Given the description of an element on the screen output the (x, y) to click on. 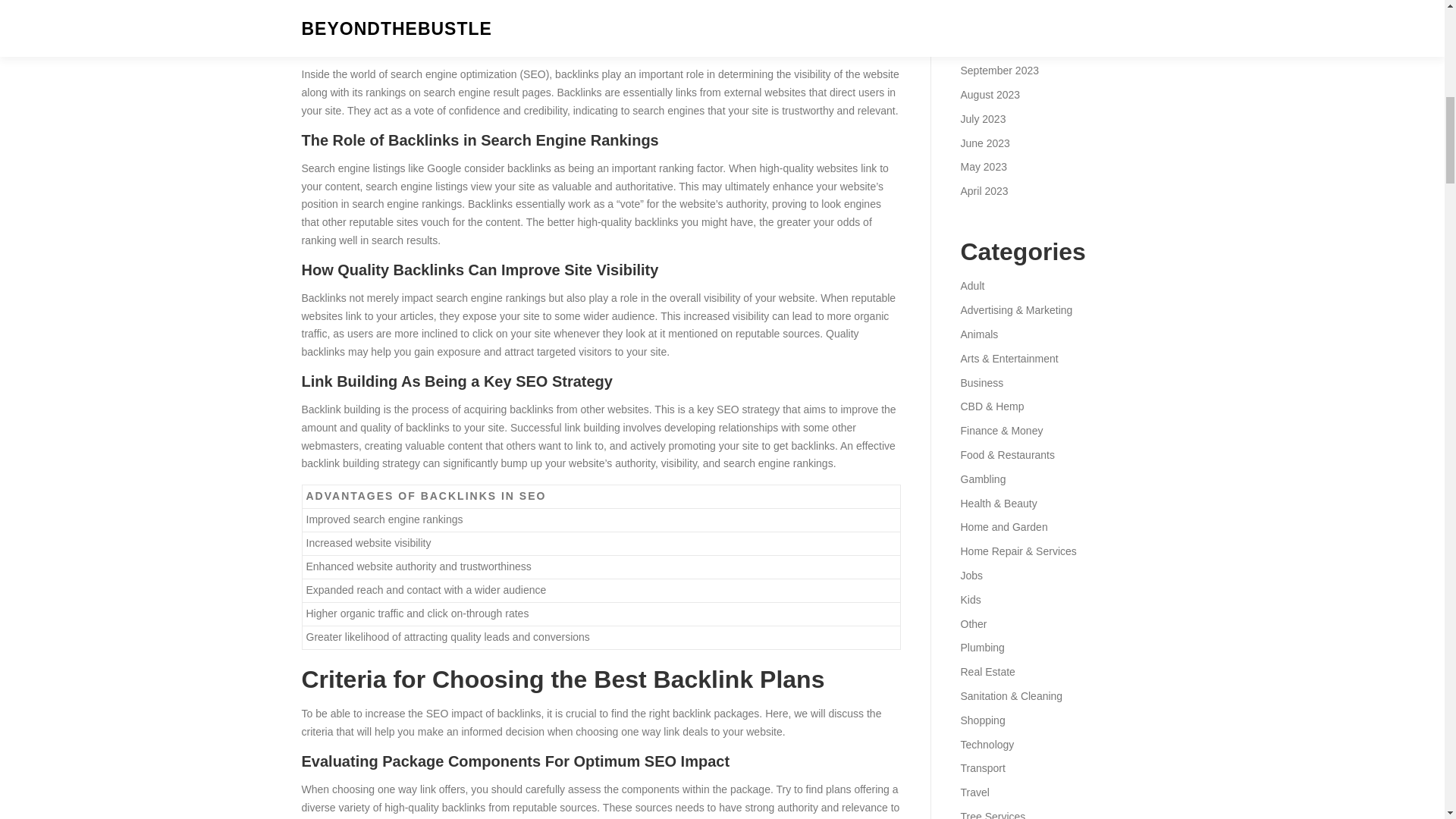
July 2023 (982, 119)
October 2023 (992, 46)
Business (981, 382)
May 2023 (982, 166)
September 2023 (999, 70)
June 2023 (984, 143)
December 2023 (997, 2)
November 2023 (997, 22)
April 2023 (983, 191)
Adult (971, 285)
